Given the description of an element on the screen output the (x, y) to click on. 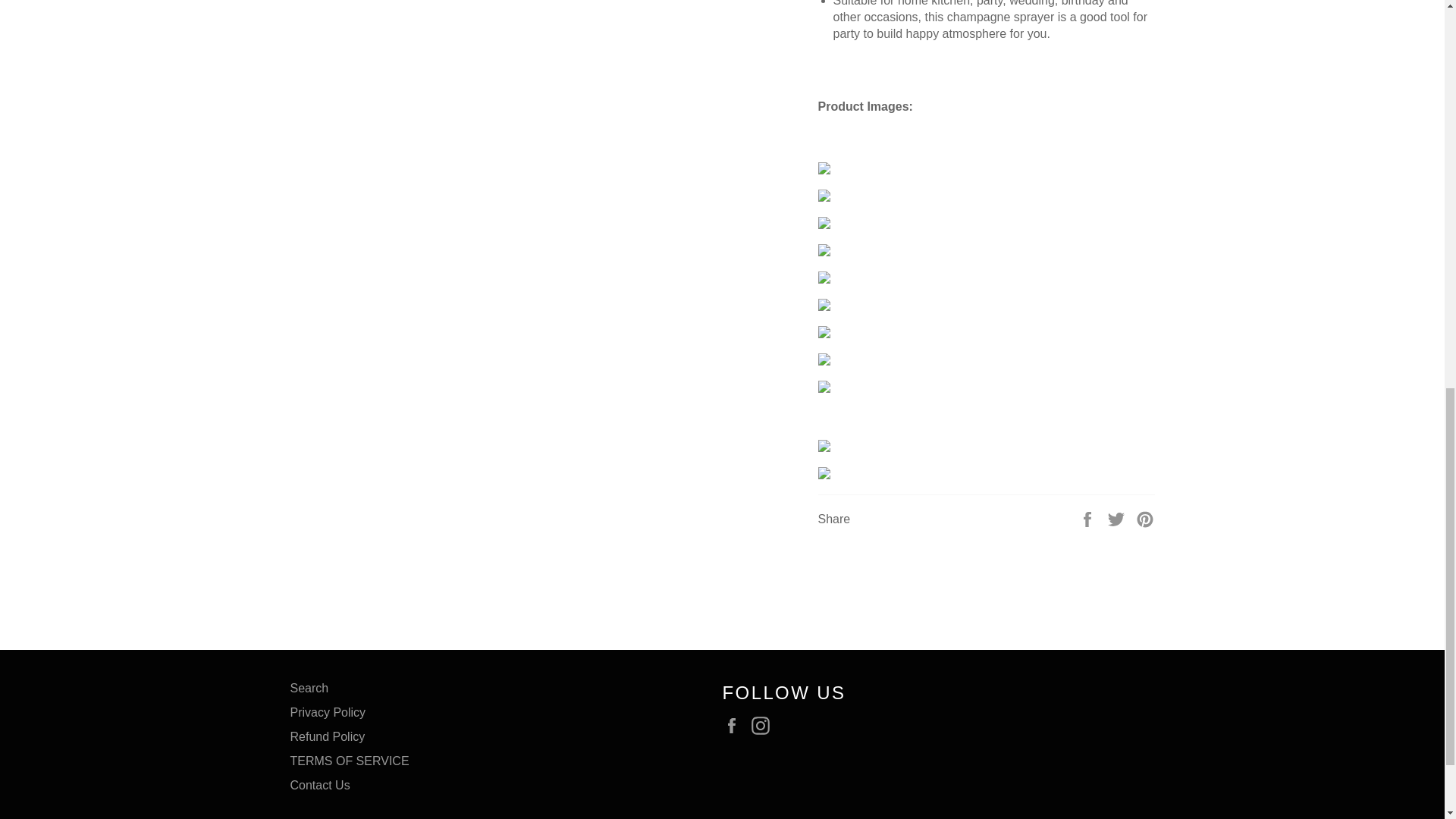
Tweet on Twitter (1117, 517)
Share on Facebook (1088, 517)
Napa Valley Shopping on Instagram (764, 725)
Pin on Pinterest (1144, 517)
Napa Valley Shopping on Facebook (735, 725)
